Given the description of an element on the screen output the (x, y) to click on. 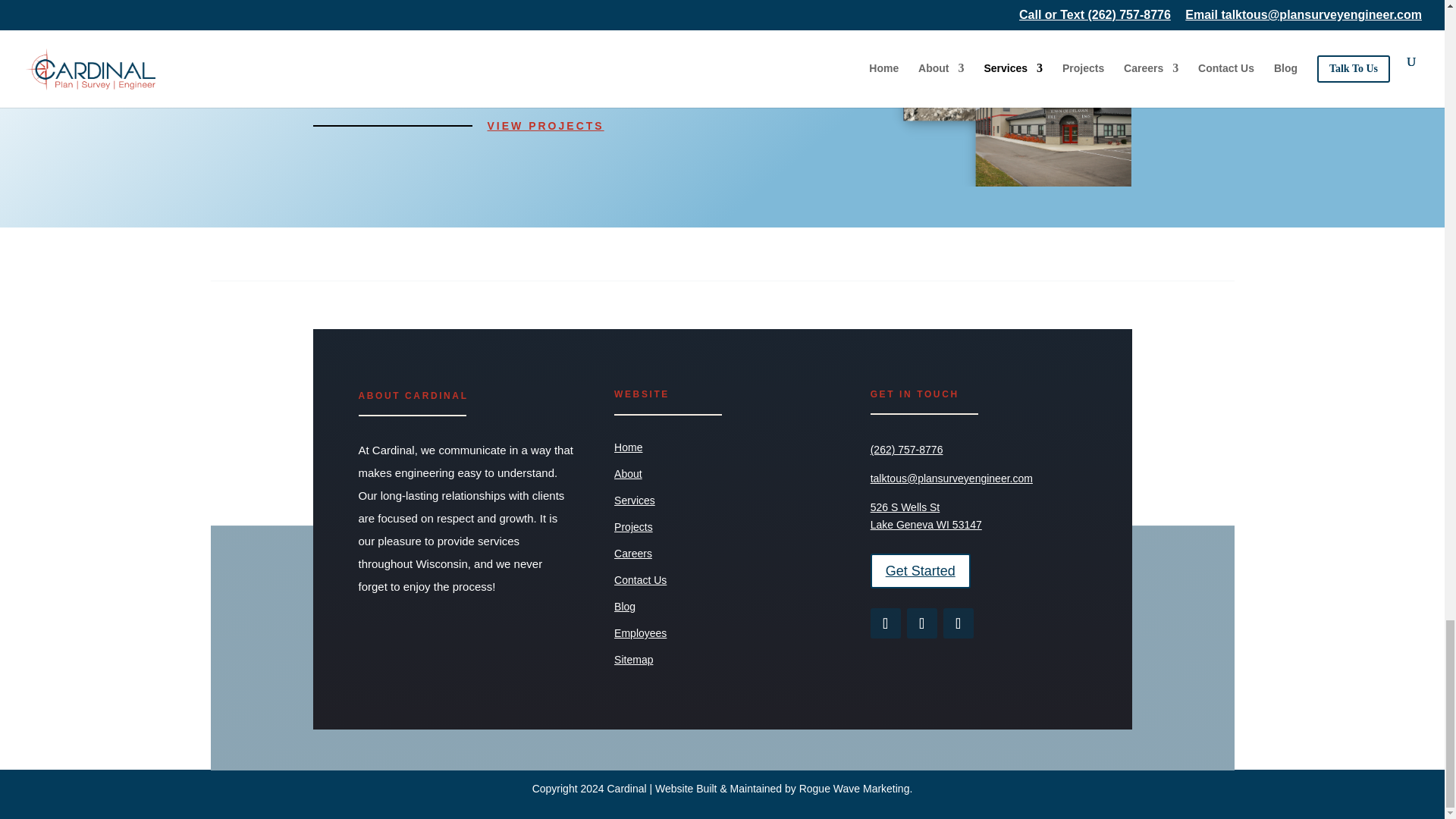
VIEW PROJECTS (545, 125)
Follow on Instagram (922, 623)
Follow on LinkedIn (958, 623)
Home (628, 447)
About (628, 473)
Follow on Facebook (885, 623)
